Given the description of an element on the screen output the (x, y) to click on. 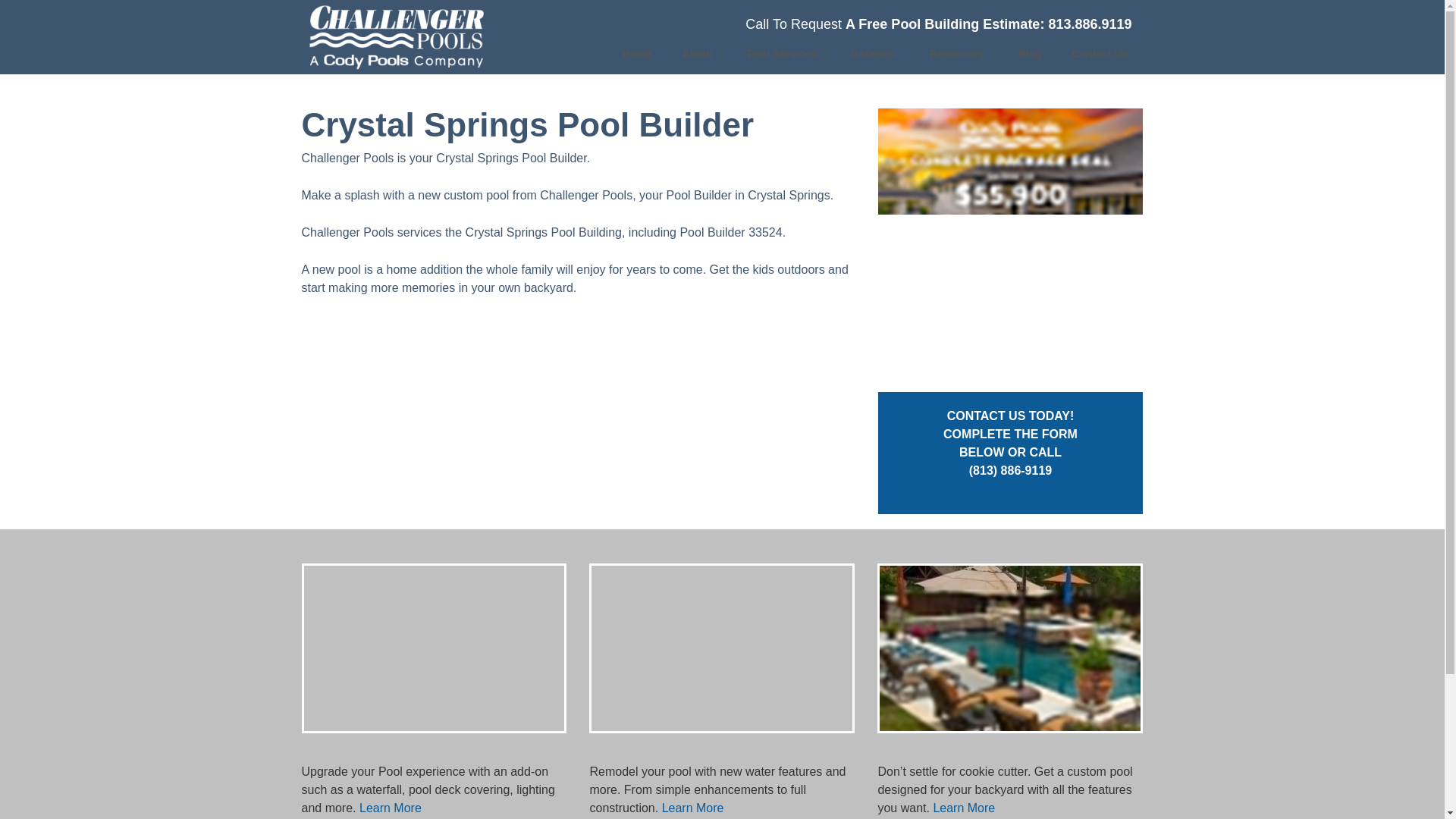
Pool Services (783, 53)
Resources (832, 53)
Home (958, 53)
Galleries (636, 53)
813.886.9119 (874, 53)
About (1089, 23)
